Given the description of an element on the screen output the (x, y) to click on. 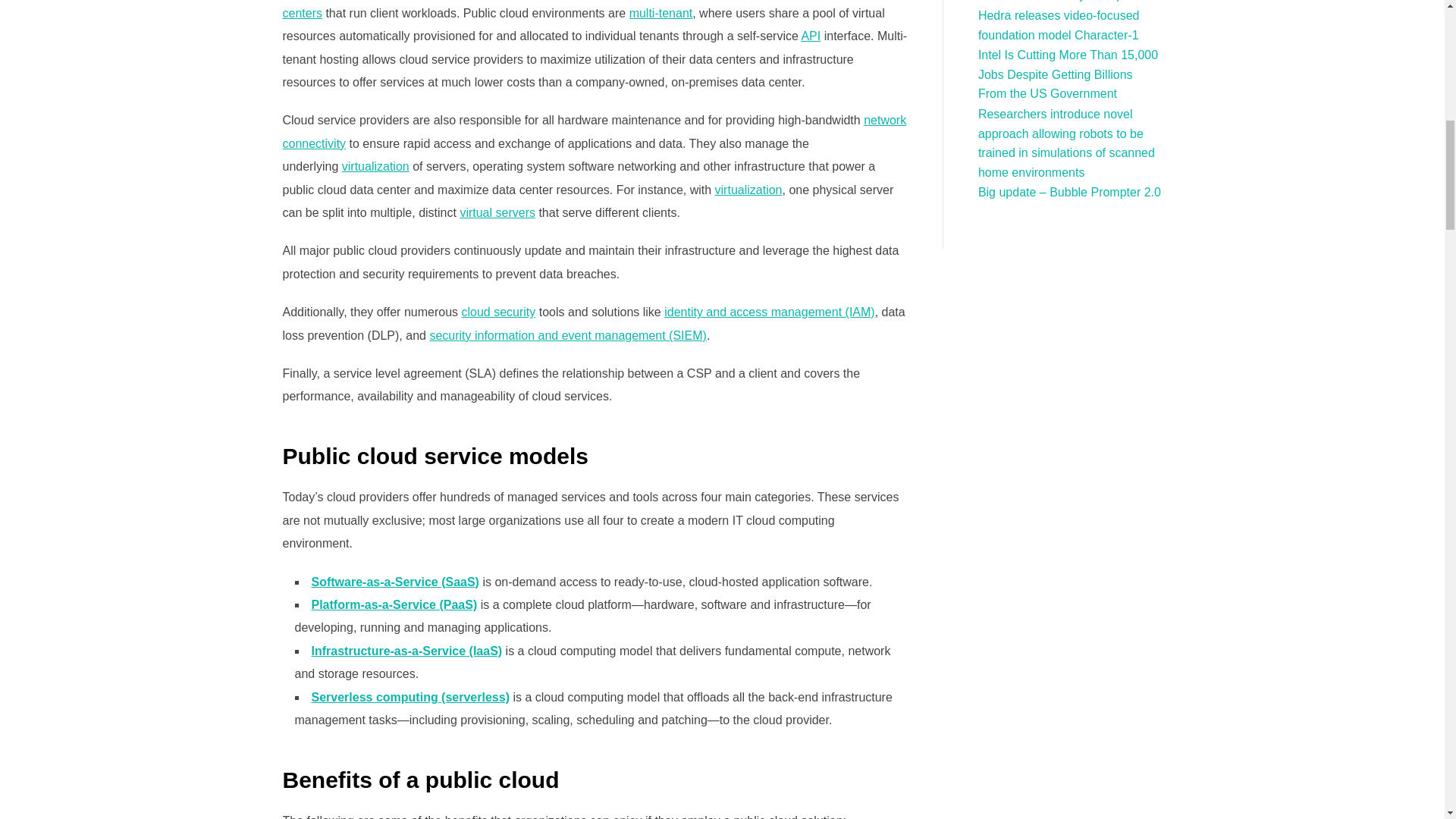
data centers (562, 9)
network connectivity (593, 131)
multi-tenant (660, 12)
API (810, 35)
